Given the description of an element on the screen output the (x, y) to click on. 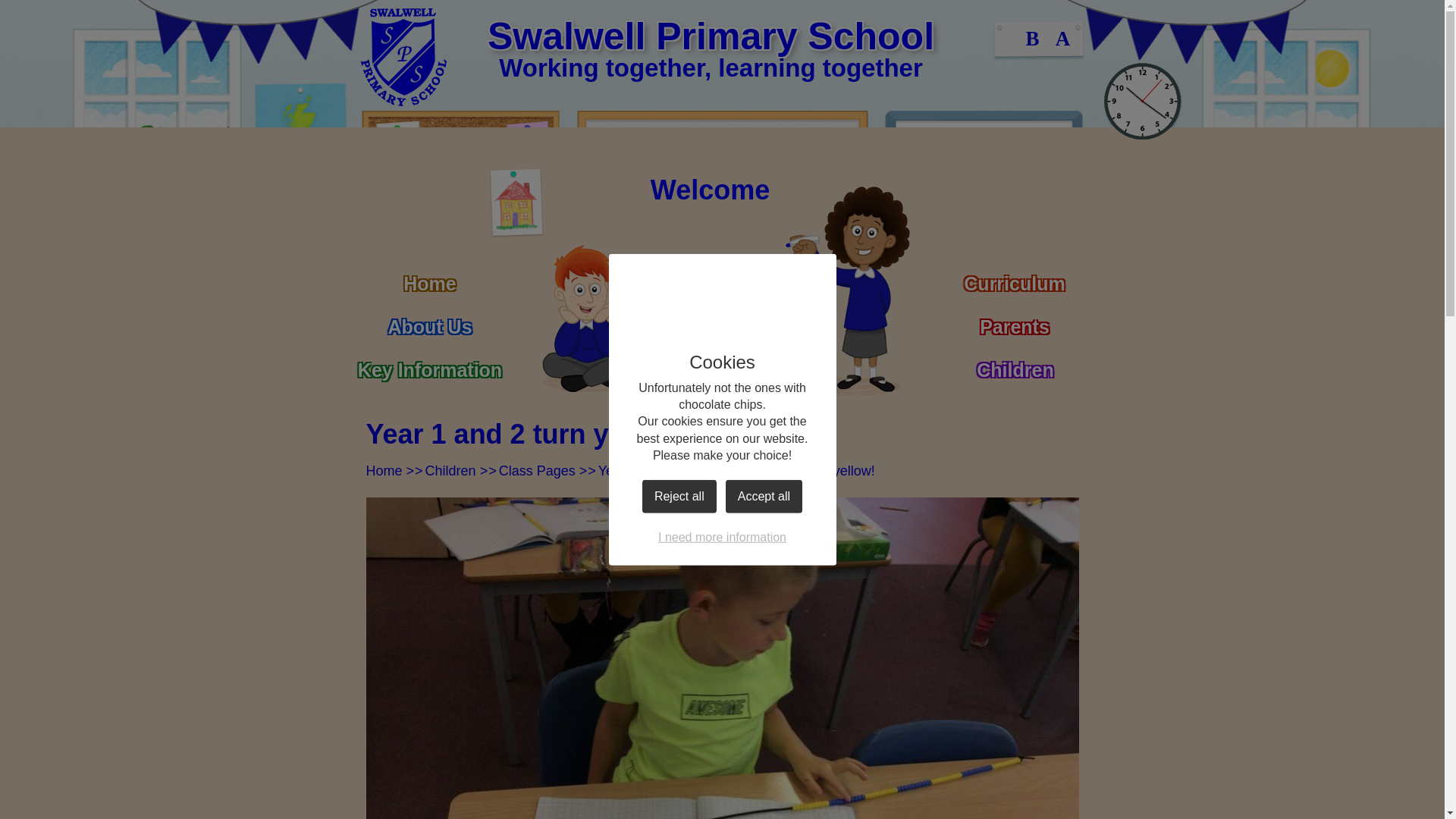
Class Pages (537, 470)
About Us (429, 320)
Year 1 and 2 turn yellow! (800, 470)
Home (429, 276)
Children (450, 470)
Key Information (429, 363)
Home (383, 470)
